Given the description of an element on the screen output the (x, y) to click on. 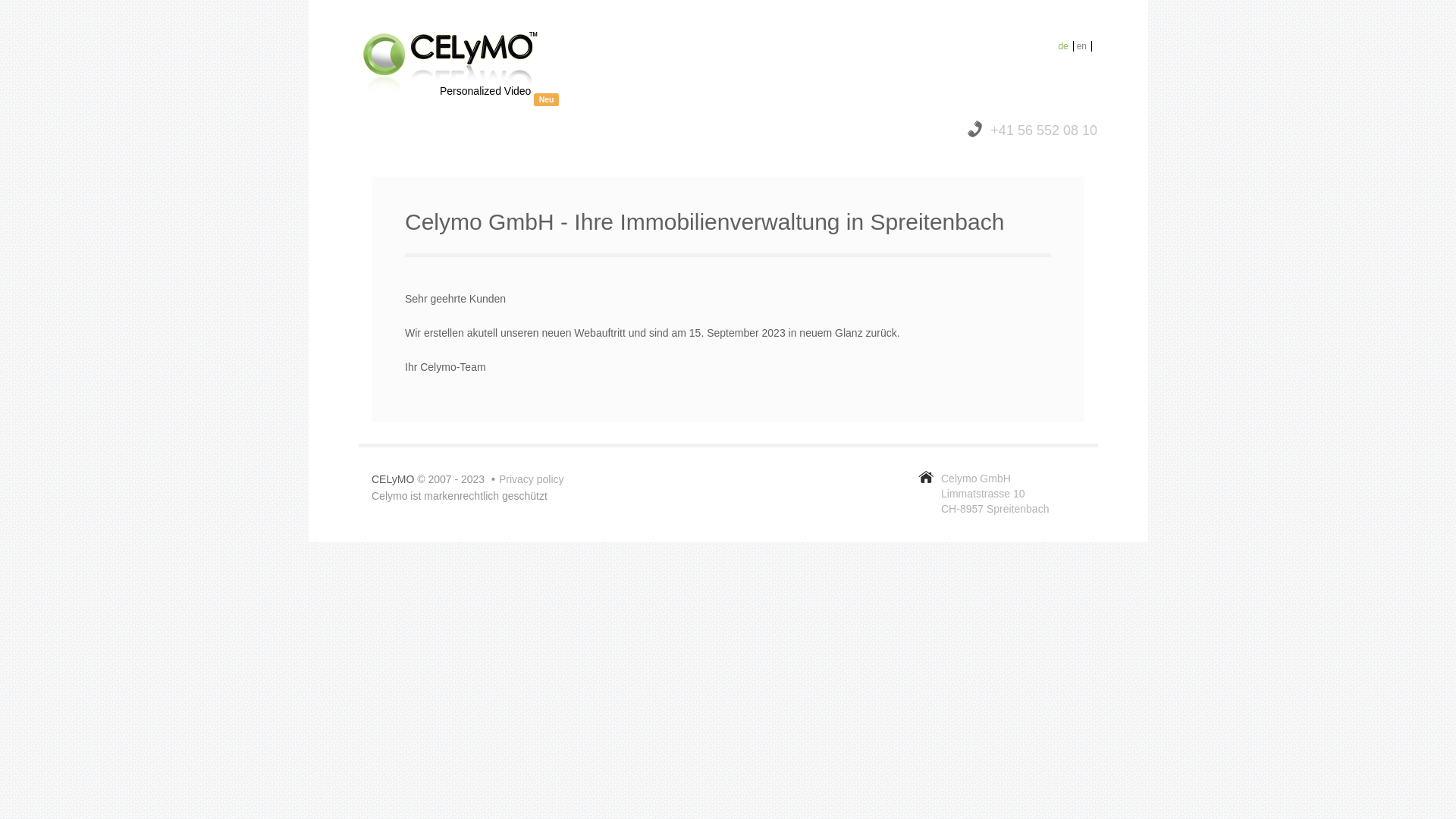
de Element type: text (1065, 45)
en Element type: text (1084, 45)
Celymo Element type: text (450, 65)
Privacy policy Element type: text (531, 479)
